Given the description of an element on the screen output the (x, y) to click on. 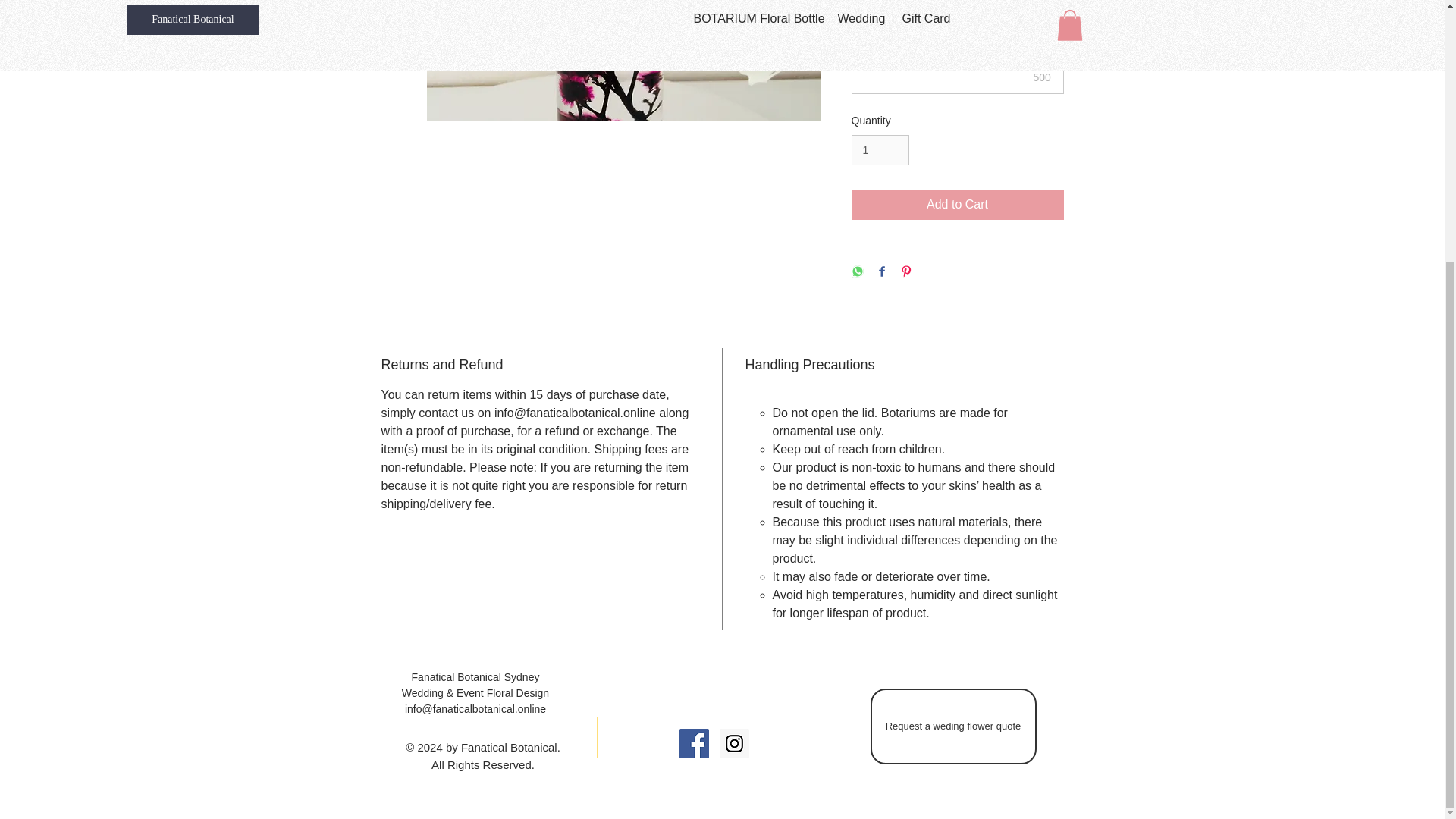
Add to Cart (956, 204)
Select (956, 13)
Request a weding flower quote (953, 726)
1 (879, 150)
